Given the description of an element on the screen output the (x, y) to click on. 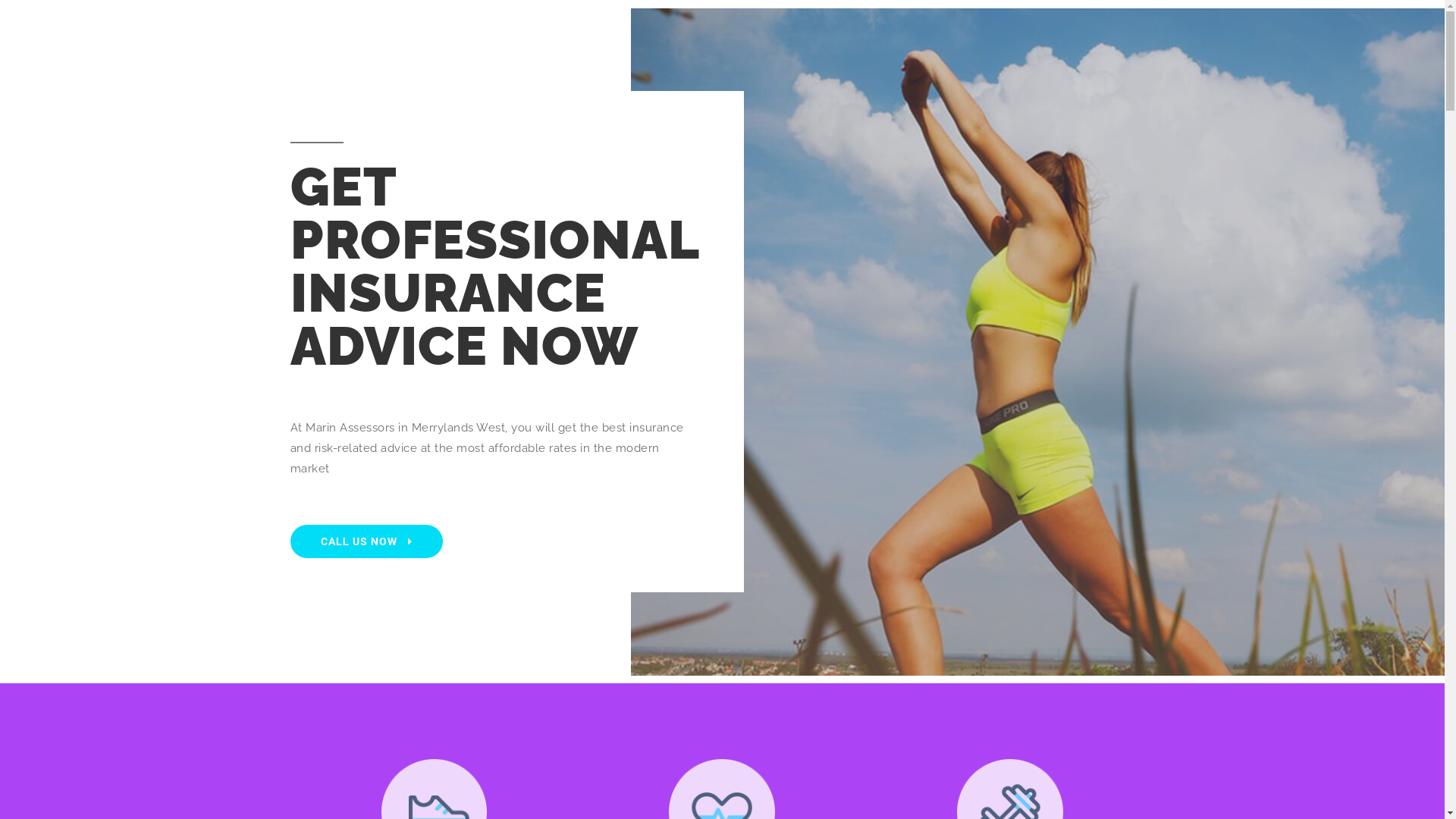
CALL US NOW Element type: text (365, 541)
